Given the description of an element on the screen output the (x, y) to click on. 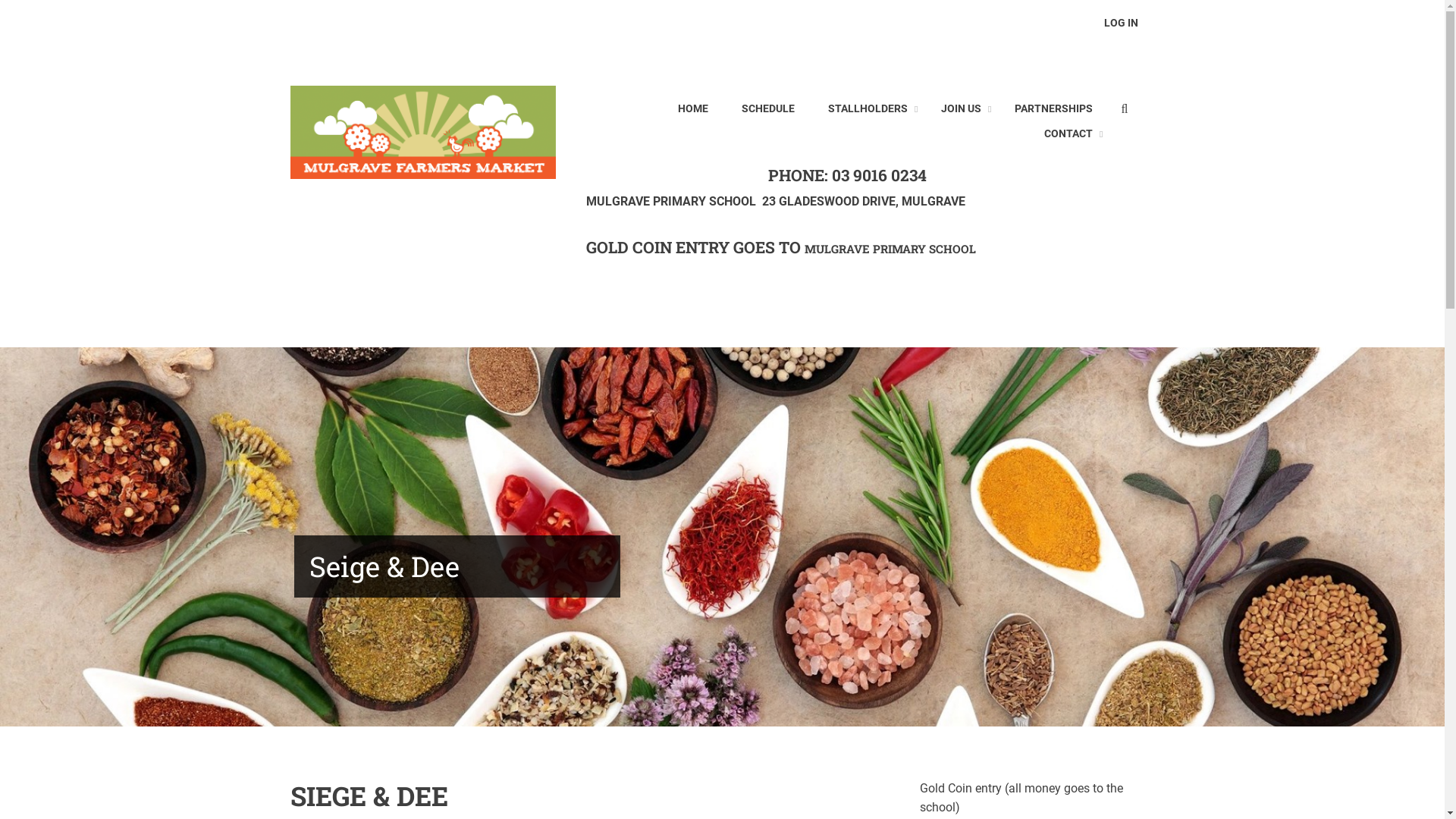
HOME Element type: text (692, 109)
PARTNERSHIPS Element type: text (1052, 109)
CONTACT Element type: text (1068, 134)
Search Element type: text (1127, 110)
LOG IN Element type: text (1120, 23)
Home Element type: hover (422, 131)
Skip to main content Element type: text (0, 0)
STALLHOLDERS Element type: text (866, 109)
Enter the terms you wish to search for. Element type: hover (1131, 108)
SCHEDULE Element type: text (767, 109)
JOIN US Element type: text (961, 109)
